Given the description of an element on the screen output the (x, y) to click on. 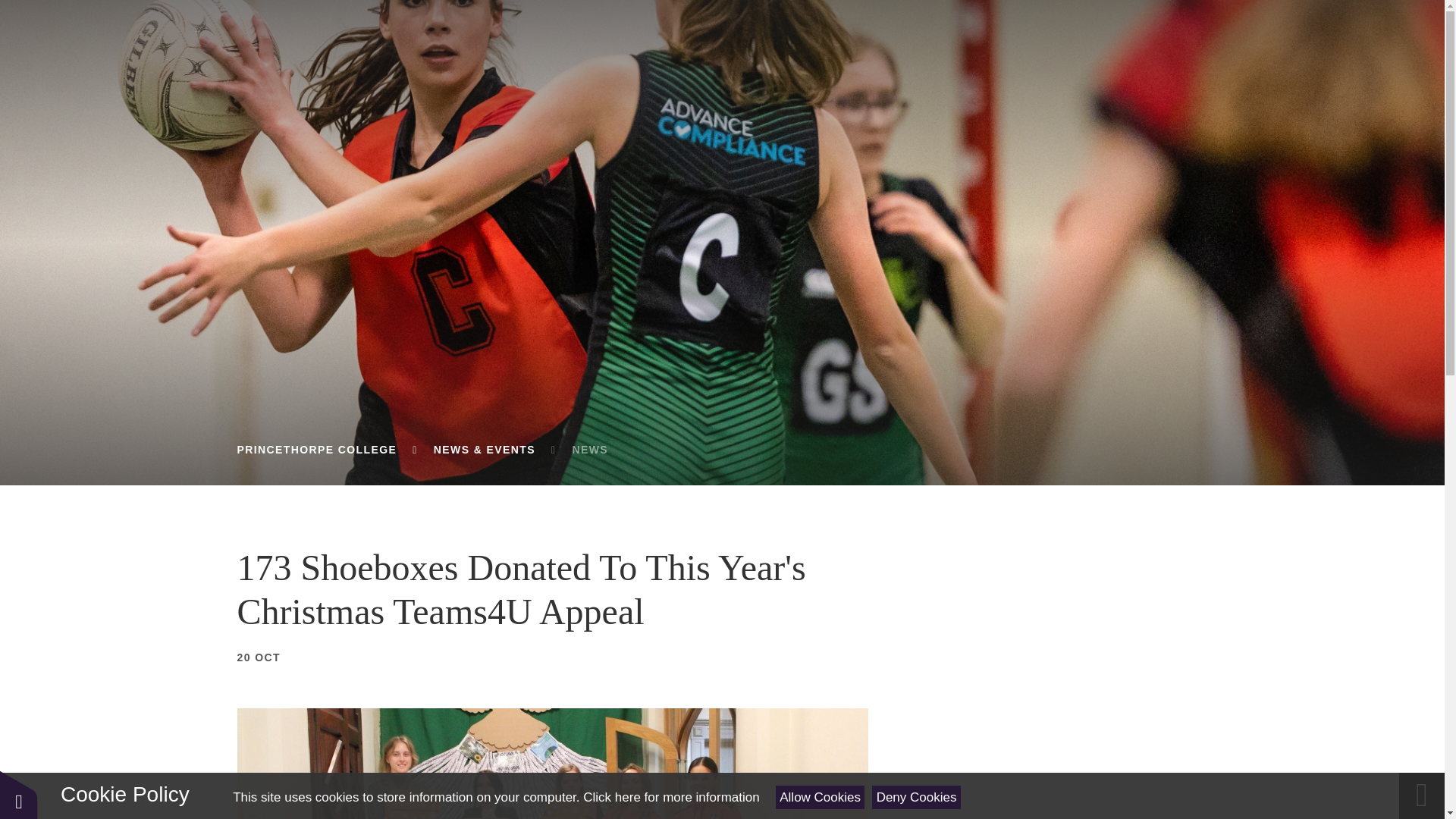
See cookie policy (670, 797)
Deny Cookies (915, 797)
Allow Cookies (820, 797)
